Given the description of an element on the screen output the (x, y) to click on. 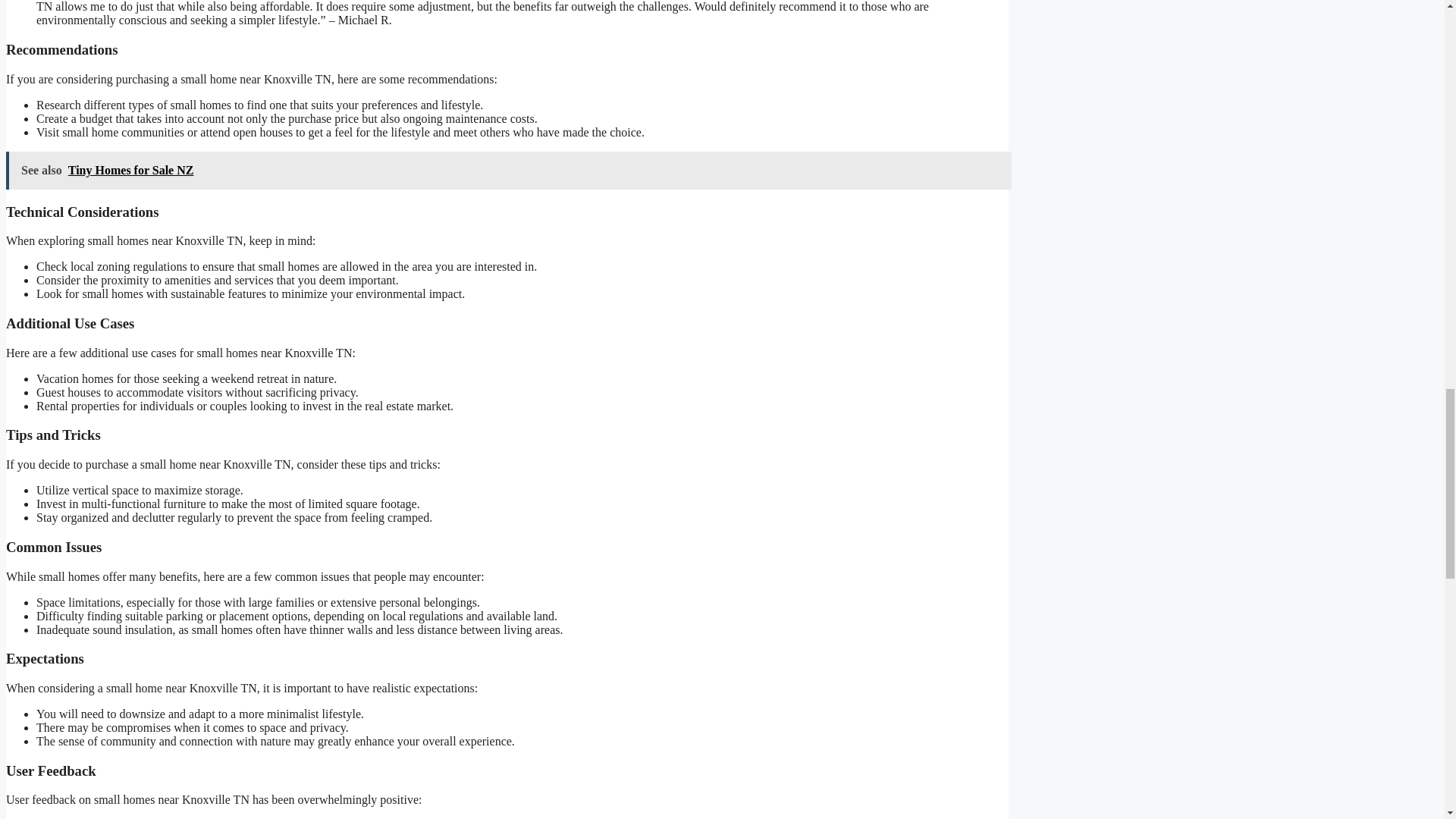
See also  Tiny Homes for Sale NZ (508, 170)
